Given the description of an element on the screen output the (x, y) to click on. 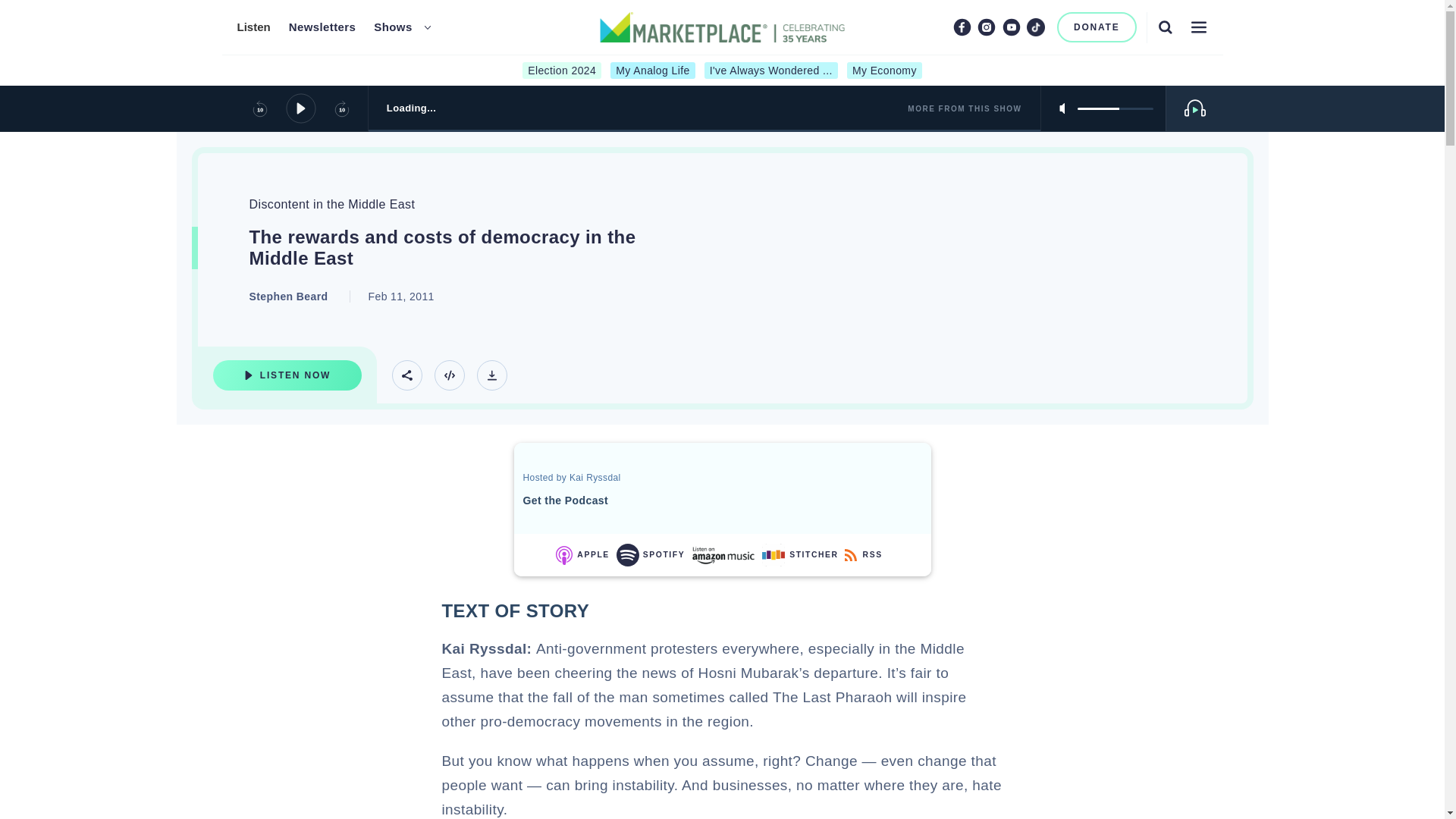
TikTok (1035, 27)
Newsletters (322, 27)
Download Track (491, 374)
Shows (393, 26)
Listen Now (286, 374)
Facebook (962, 27)
Search (1164, 27)
5 (1115, 108)
Youtube (1011, 27)
volume (1115, 108)
Listen (252, 26)
Menu (1198, 27)
DONATE (1097, 27)
Instagram (985, 27)
